Given the description of an element on the screen output the (x, y) to click on. 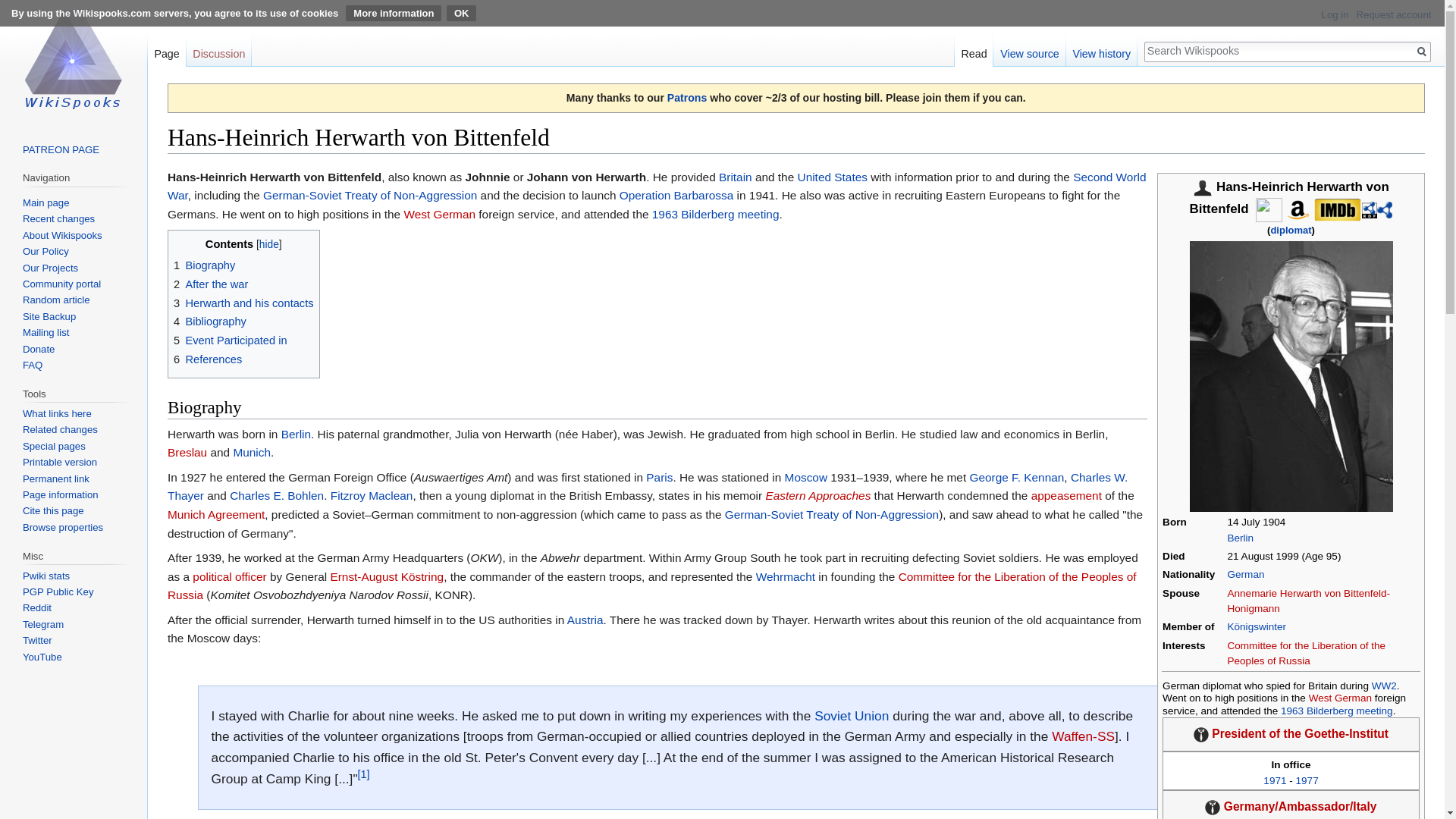
West German (1339, 697)
1963 Bilderberg meeting (1337, 710)
Patrons (686, 97)
OK (461, 12)
German (1246, 573)
More information (393, 12)
WW2 (1383, 685)
WW2 (1383, 685)
Berlin (1240, 537)
Person (1202, 186)
